Given the description of an element on the screen output the (x, y) to click on. 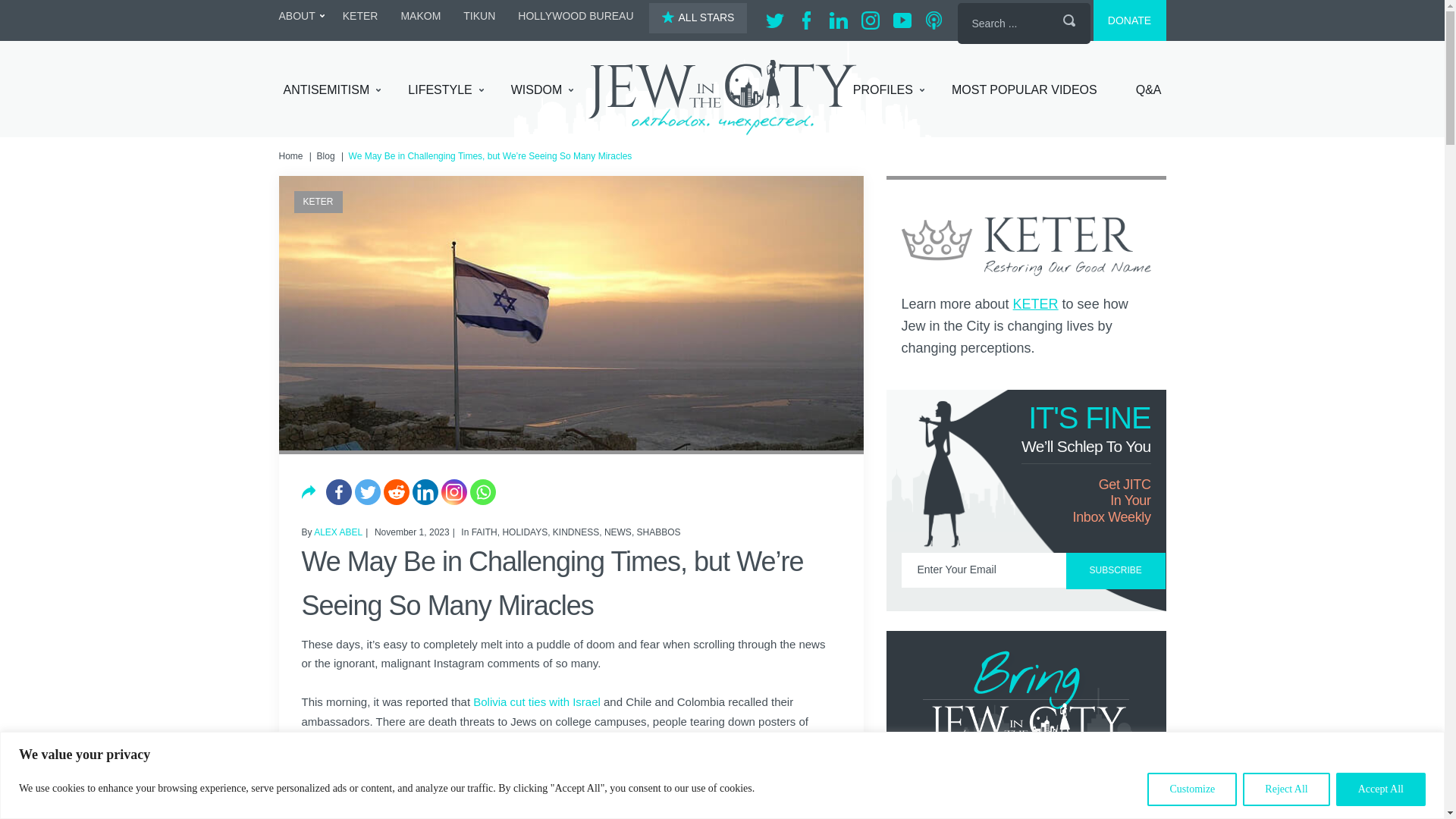
WISDOM (542, 90)
Accept All (1380, 788)
Customize (1191, 788)
ANTISEMITISM (332, 90)
Reddit (396, 492)
Linkedin (425, 492)
Facebook (339, 492)
LIFESTYLE (445, 90)
Twitter (367, 492)
Instagram (454, 492)
Whatsapp (483, 492)
Reject All (1286, 788)
